Given the description of an element on the screen output the (x, y) to click on. 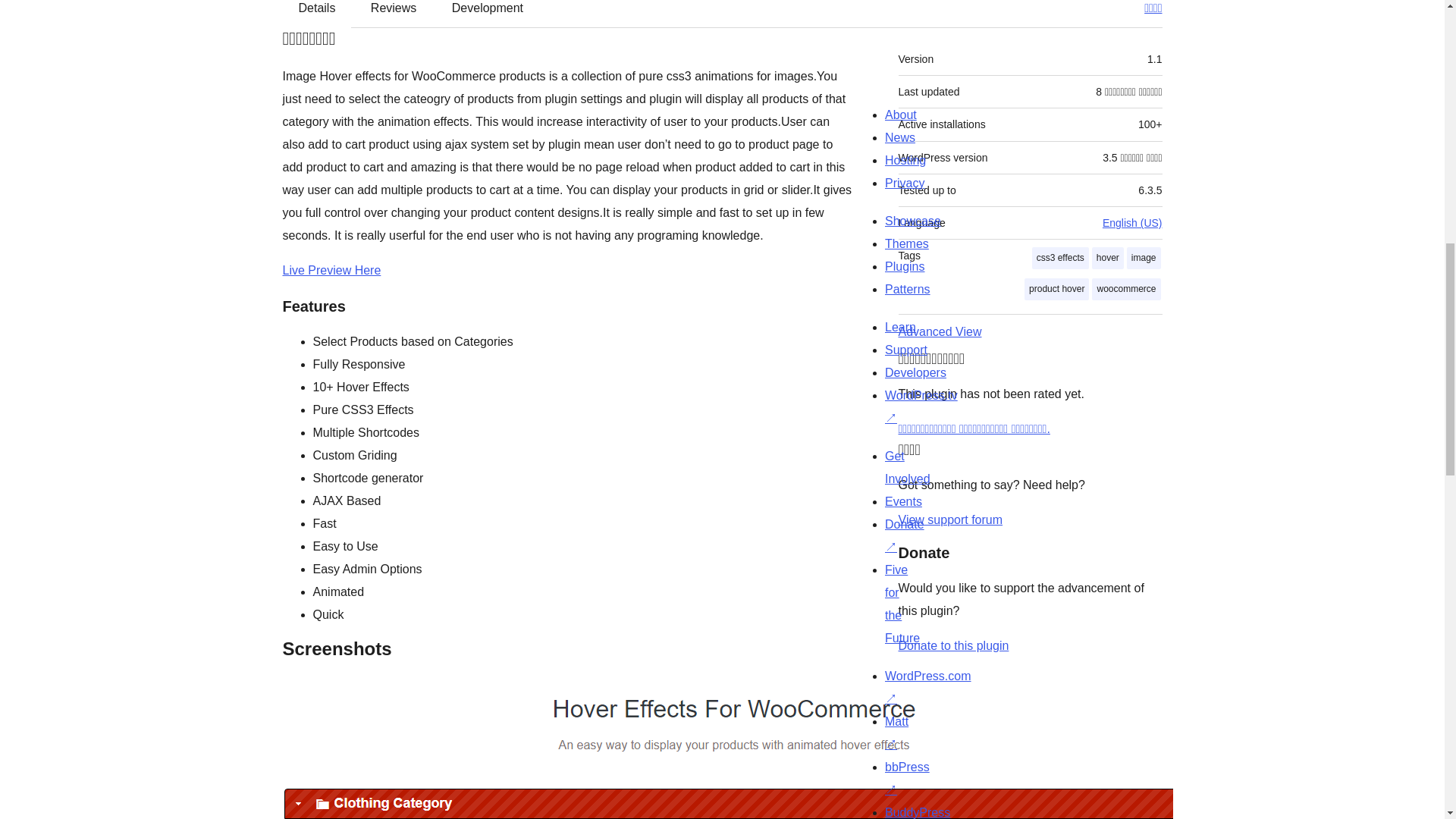
Details (316, 13)
Reviews (392, 13)
Live Preview Here (331, 269)
Development (487, 13)
